Given the description of an element on the screen output the (x, y) to click on. 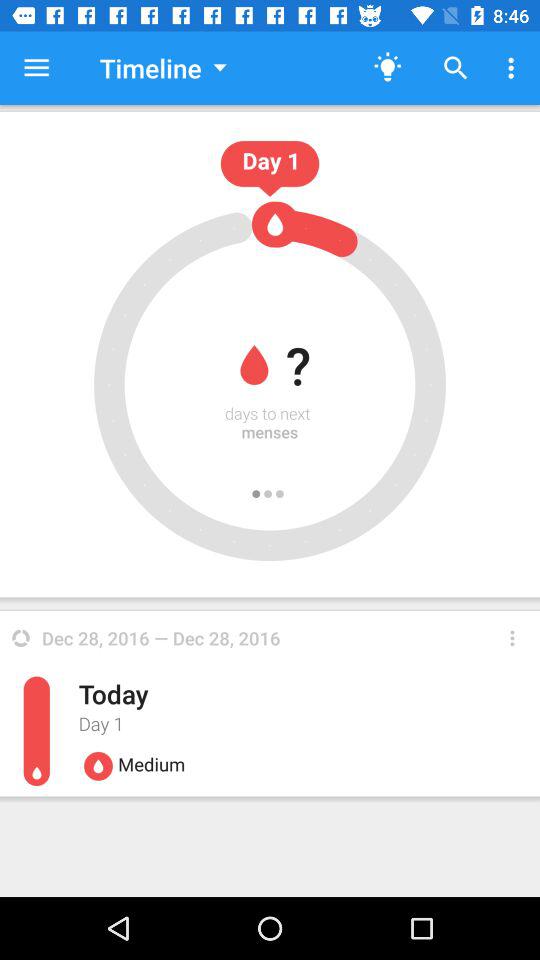
show options (512, 638)
